Given the description of an element on the screen output the (x, y) to click on. 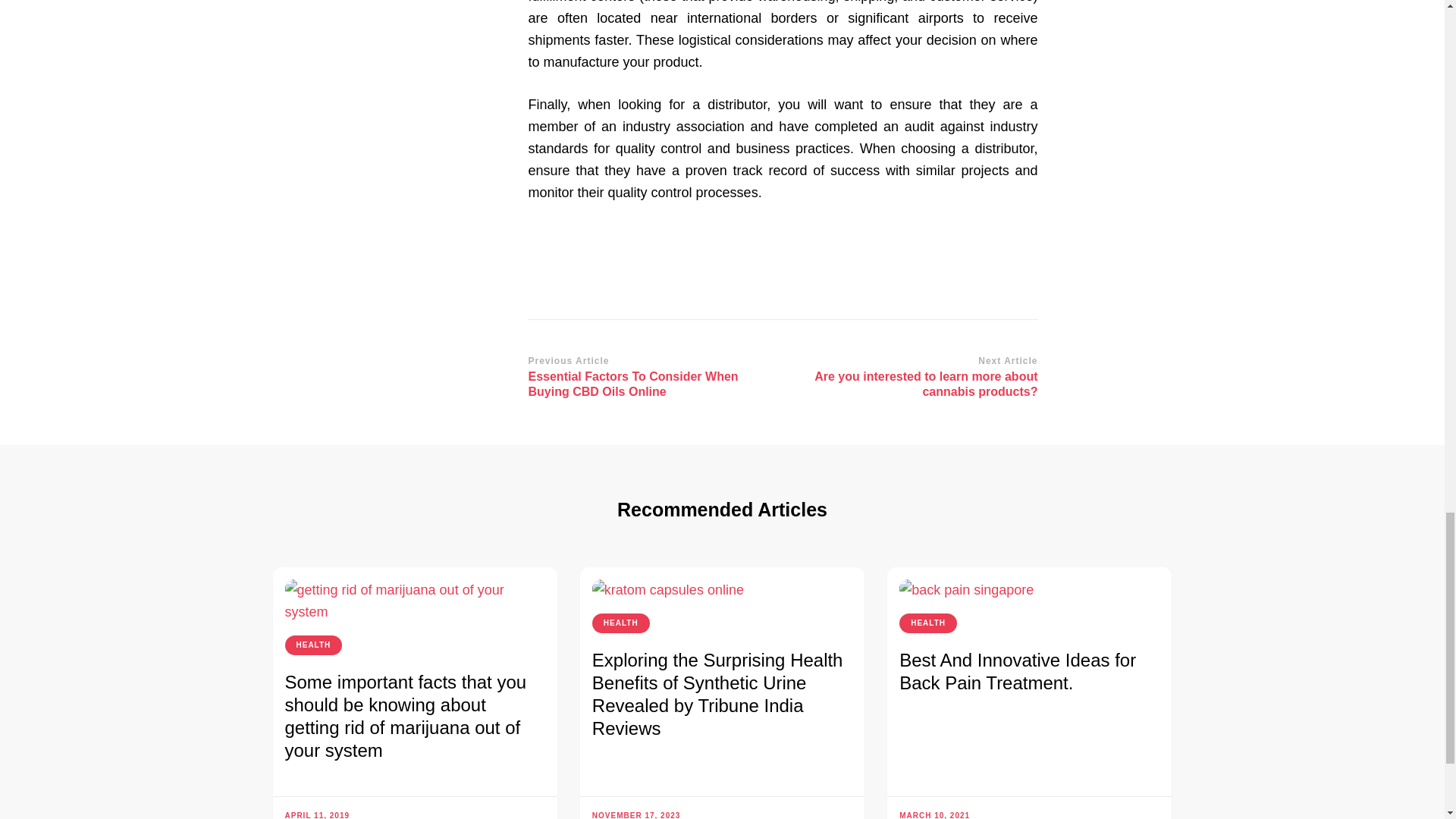
HEALTH (313, 645)
